Given the description of an element on the screen output the (x, y) to click on. 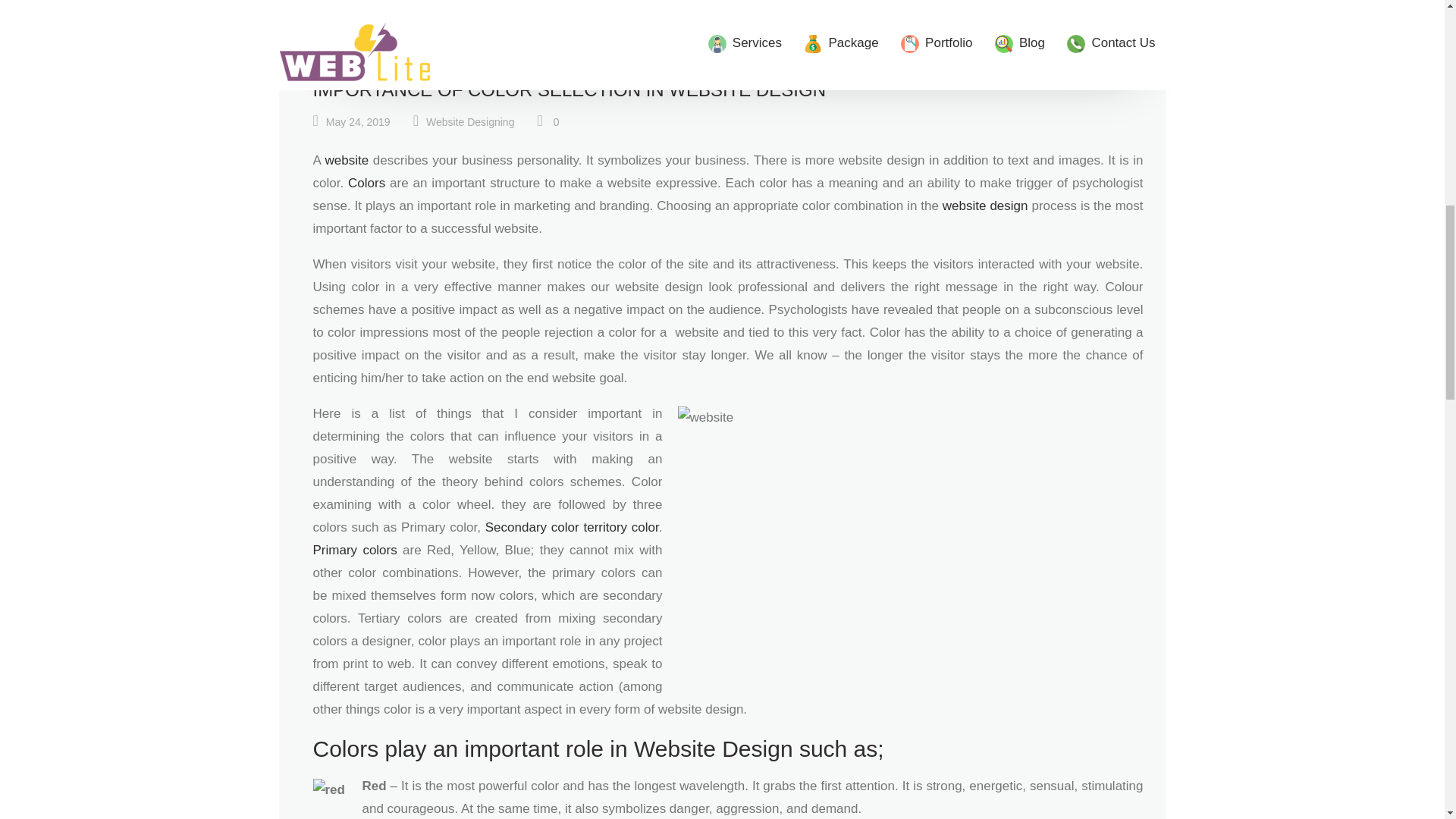
Colors (366, 183)
Website Designing (469, 122)
Secondary color (531, 527)
website design (984, 205)
0 (548, 121)
territory color (620, 527)
IMPORTANCE OF COLOR SELECTION IN WEBSITE DESIGN (569, 89)
Primary colors (354, 549)
website (346, 160)
